Given the description of an element on the screen output the (x, y) to click on. 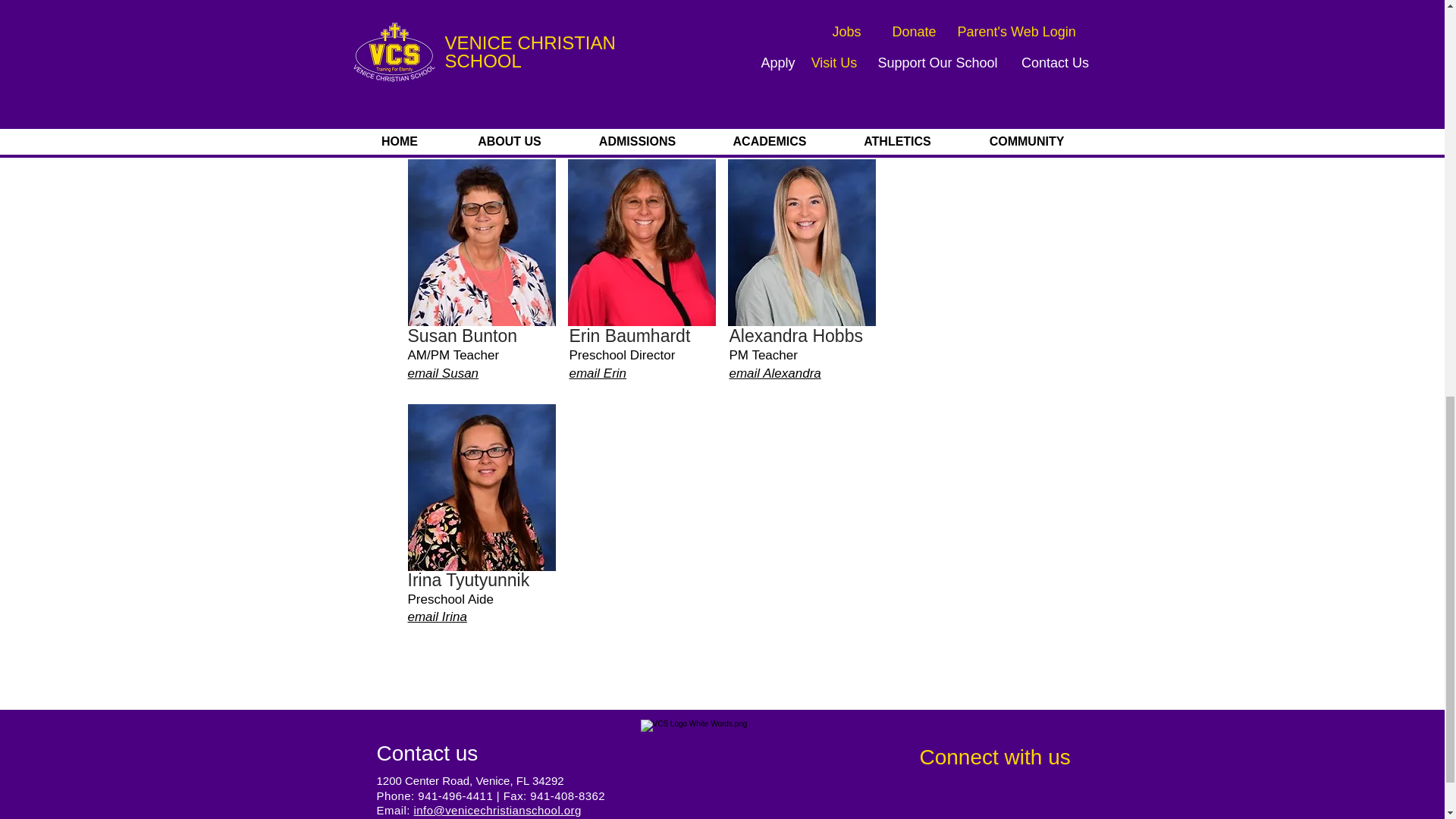
email Erin (597, 373)
email Irina (437, 616)
Click Here to apply here at Venice Christian School (604, 78)
email Alexandra (775, 373)
email Susan (443, 373)
Click Here to apply for Early Learning Coalition Certificate (604, 28)
